Given the description of an element on the screen output the (x, y) to click on. 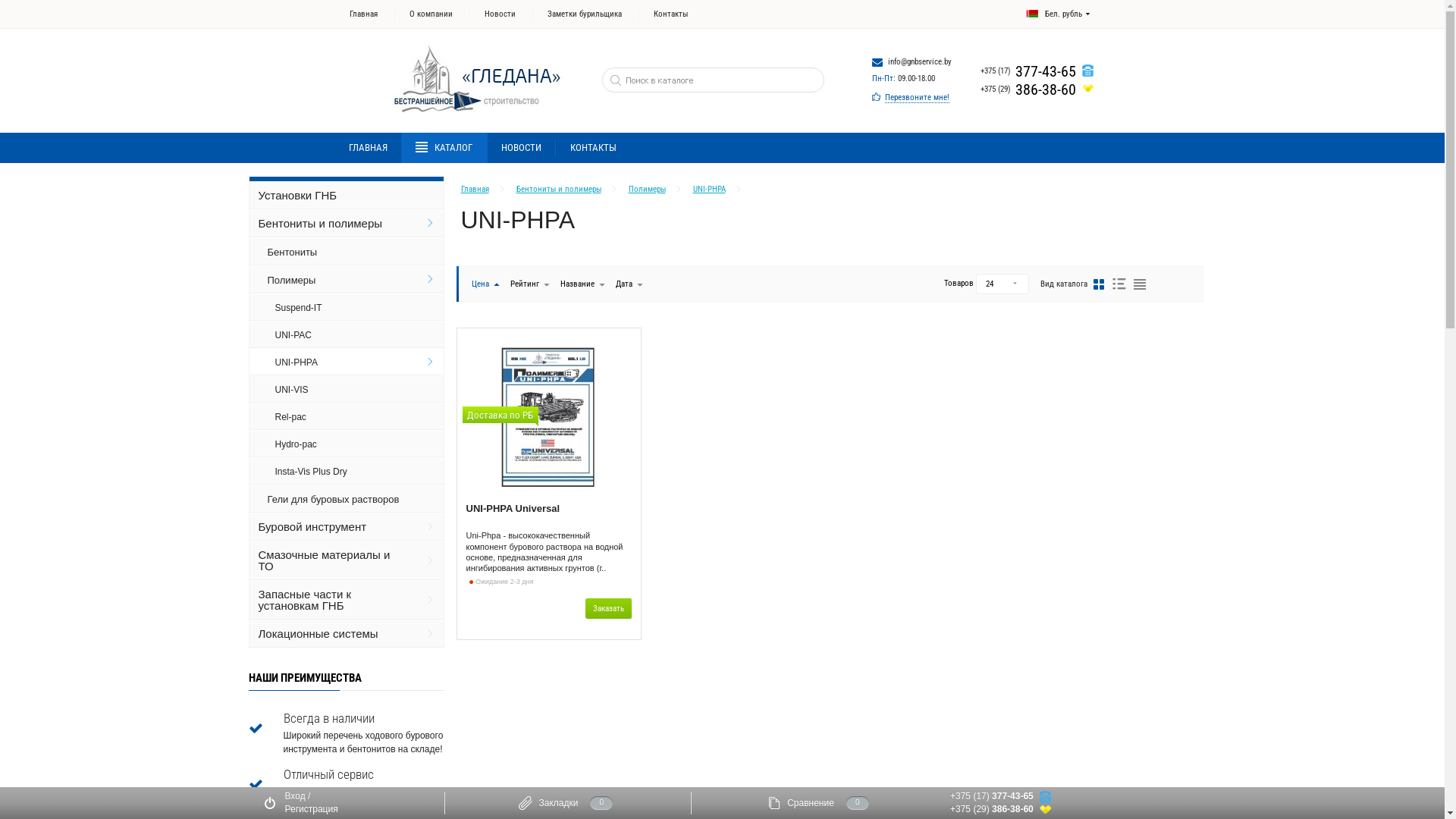
Gnb.by Element type: hover (461, 78)
Hydro-pac Element type: text (346, 443)
Suspend-IT Element type: text (346, 307)
info@gnbservice.by Element type: text (918, 61)
Insta-Vis Plus Dry Element type: text (346, 470)
UNI-VIS Element type: text (346, 388)
UNI-PHPA Universal Element type: hover (548, 417)
UNI-PHPA Universal Element type: text (512, 515)
24 Element type: text (1002, 283)
UNI-PHPA Element type: text (709, 189)
UNI-PHPA Element type: text (346, 361)
Rel-pac Element type: text (346, 416)
UNI-PAC Element type: text (346, 334)
